Given the description of an element on the screen output the (x, y) to click on. 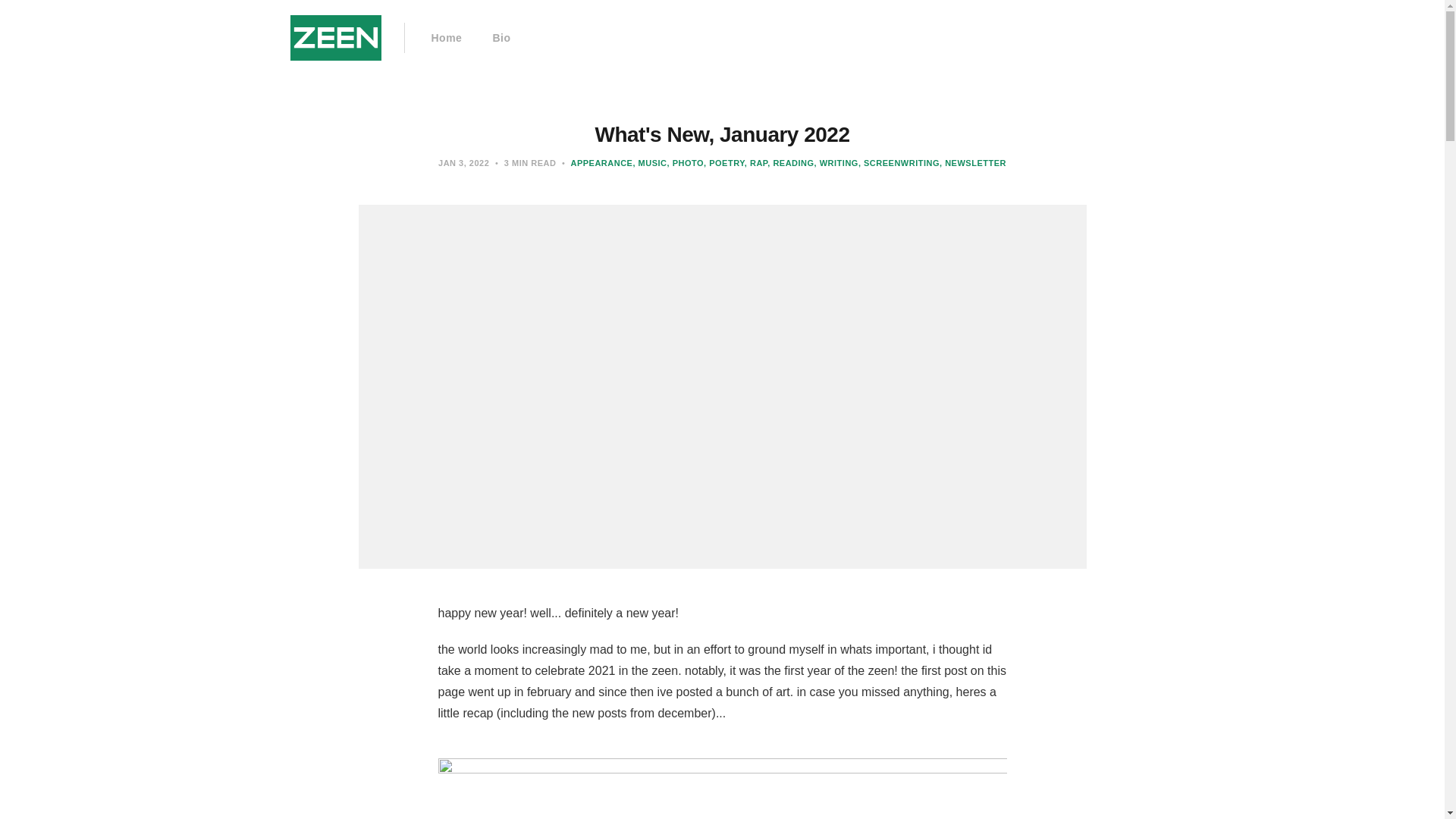
SCREENWRITING (899, 162)
Bio (501, 37)
photo (685, 162)
NEWSLETTER (972, 162)
POETRY (723, 162)
PHOTO (685, 162)
WRITING (836, 162)
writing (836, 162)
MUSIC (648, 162)
READING (790, 162)
